Given the description of an element on the screen output the (x, y) to click on. 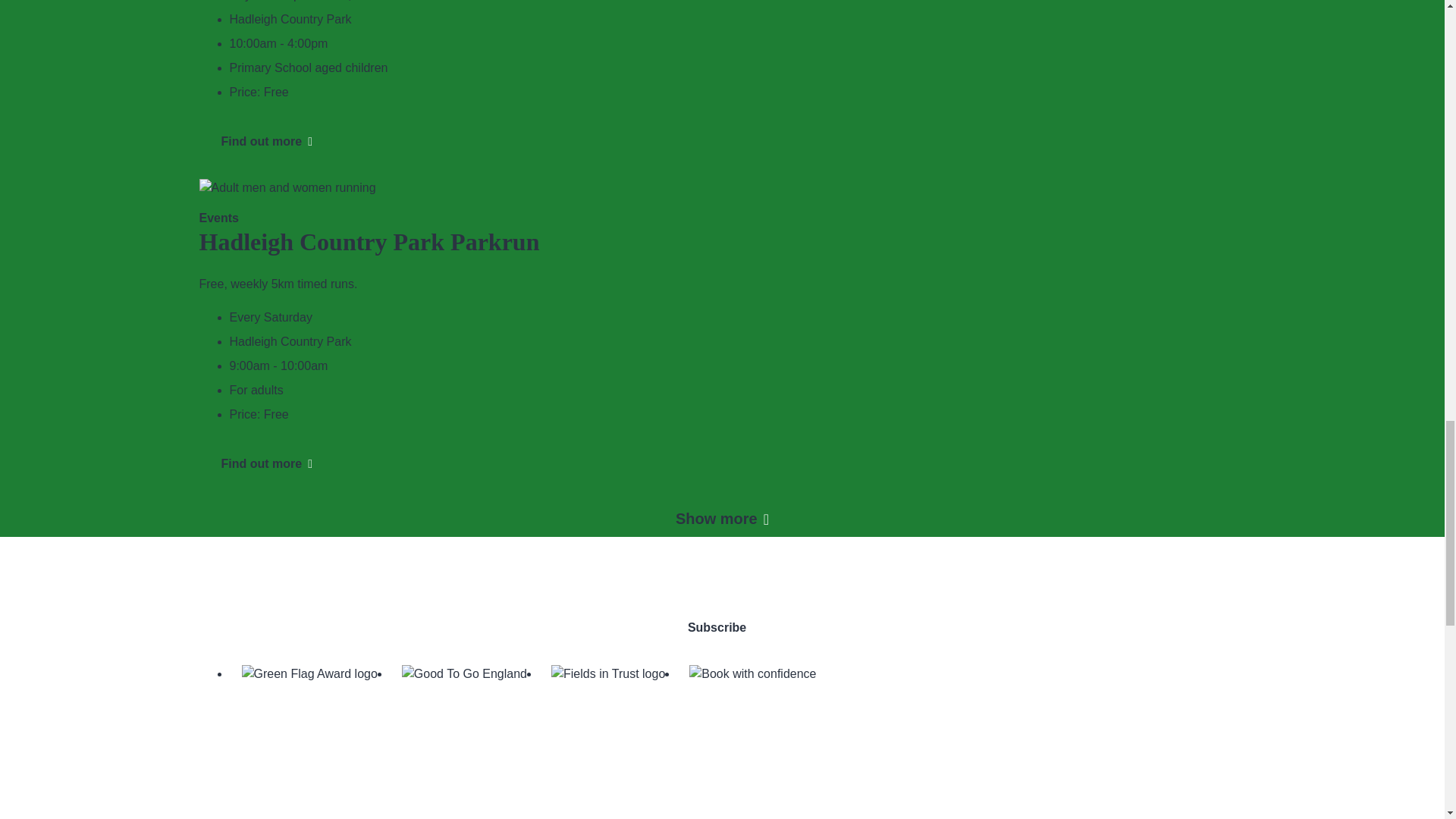
Show more (721, 519)
Return to homepage (721, 728)
Hadleigh Country Park Parkrun (368, 241)
View more events at this venue (289, 19)
Hadleigh Country Park (289, 19)
Explore Essex (721, 728)
View more events at this venue (721, 464)
Subscribe (289, 341)
Hadleigh Country Park (721, 628)
